Given the description of an element on the screen output the (x, y) to click on. 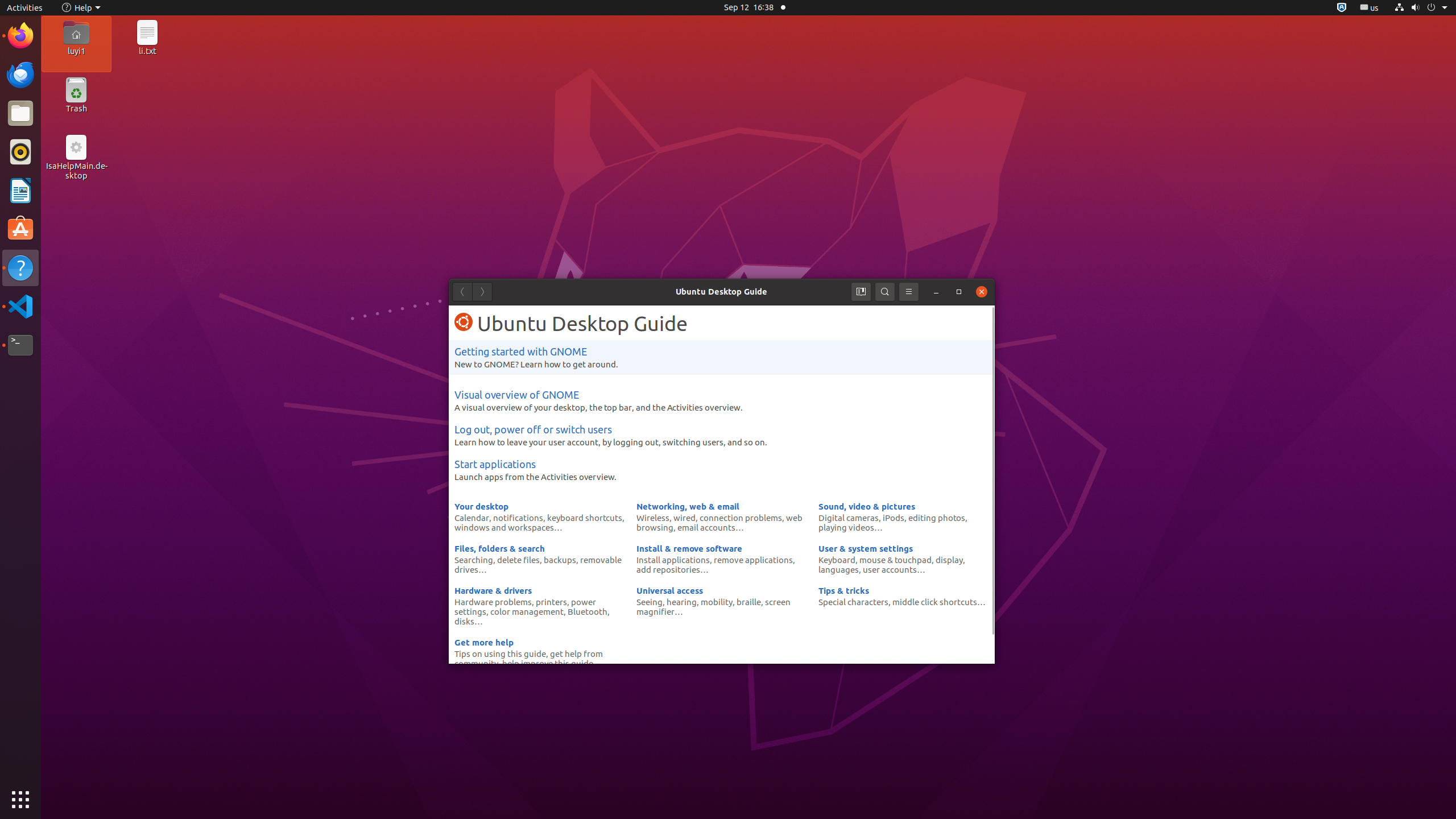
Special characters Element type: link (853, 601)
Install & remove software Element type: link (689, 548)
luyi1 Element type: label (75, 50)
